Given the description of an element on the screen output the (x, y) to click on. 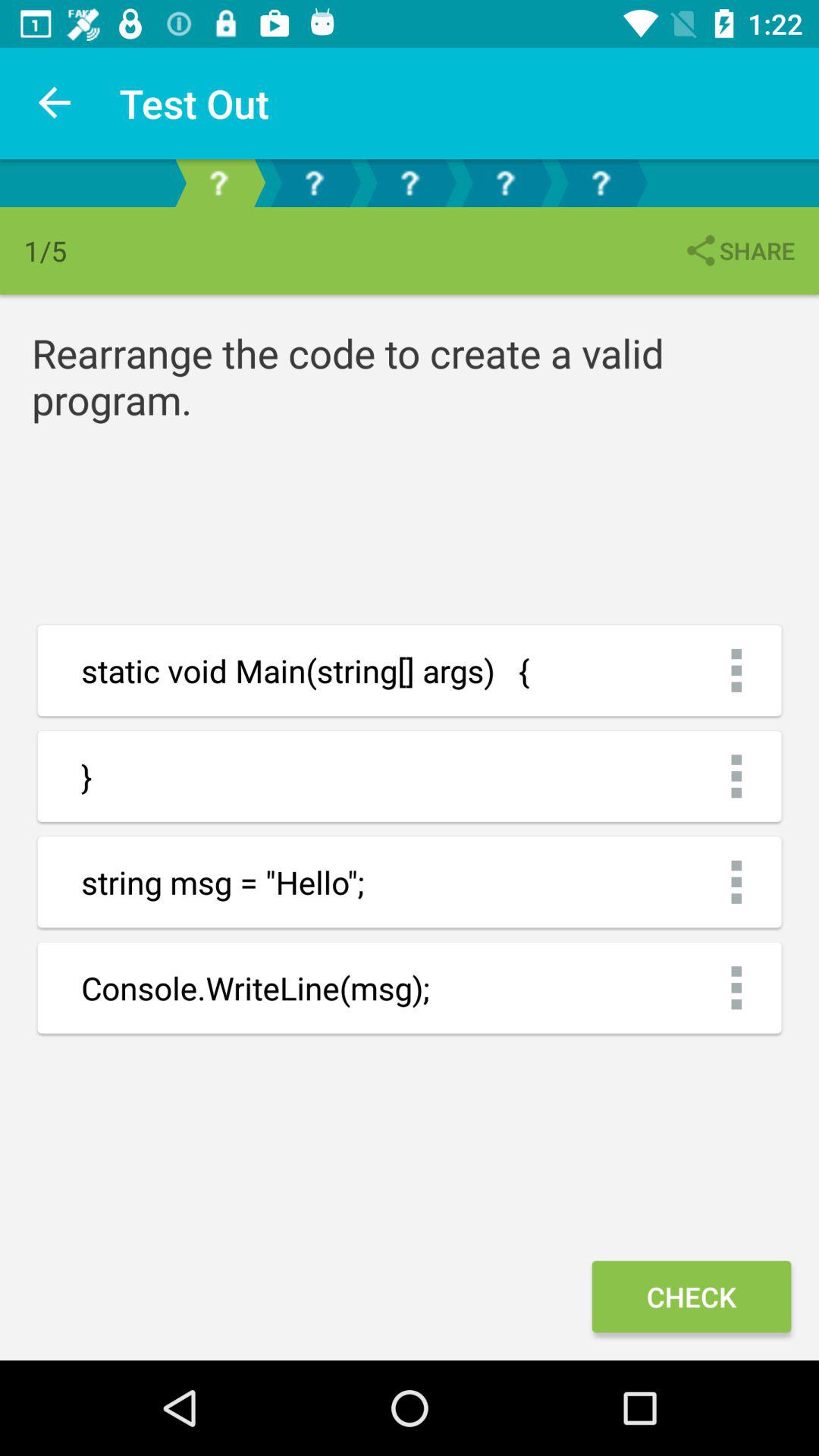
open item to the left of test out (55, 103)
